Given the description of an element on the screen output the (x, y) to click on. 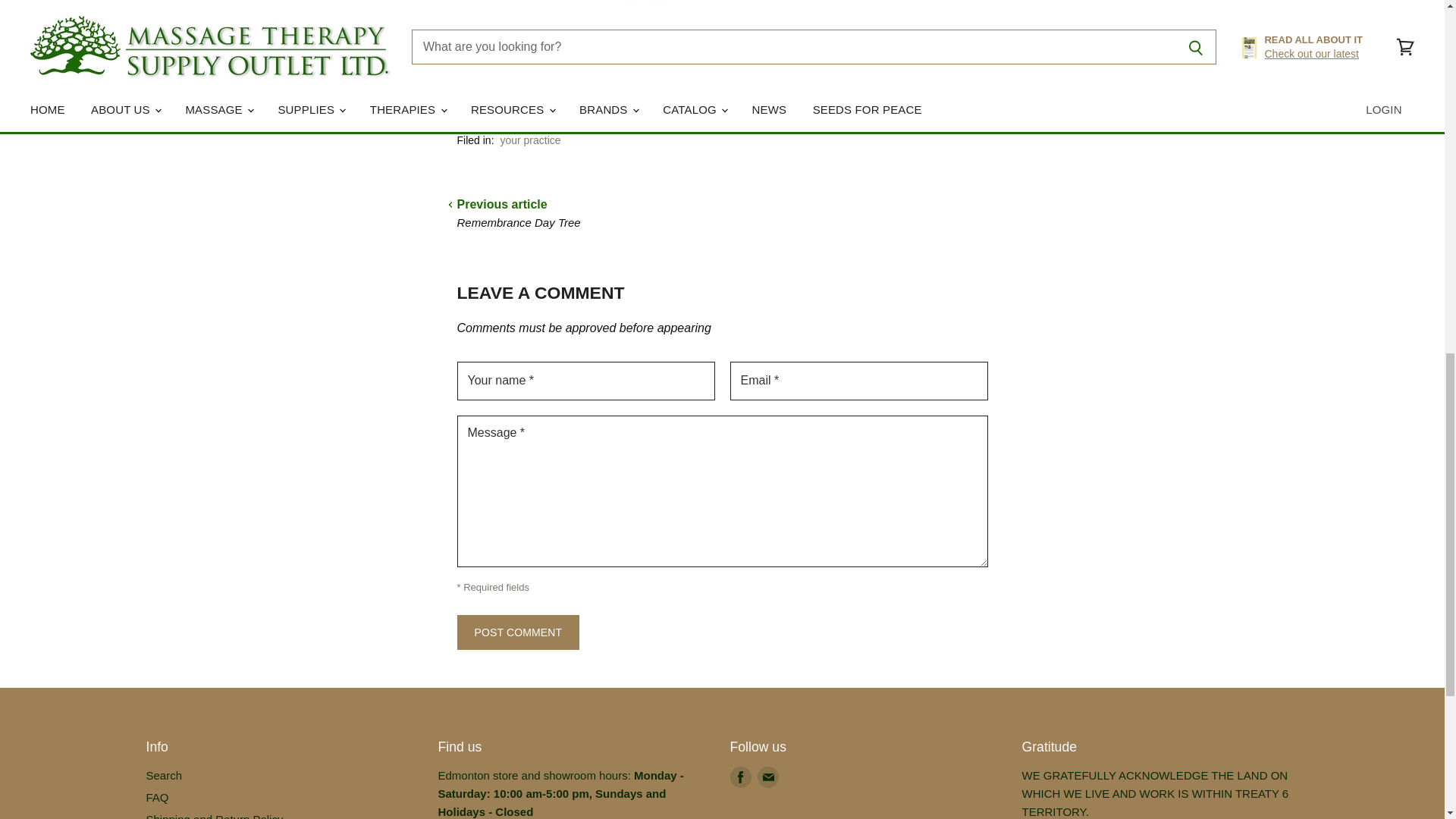
RMT Salary expectations (639, 21)
E-mail (767, 777)
Show articles tagged your practice (529, 140)
Facebook (740, 777)
